Given the description of an element on the screen output the (x, y) to click on. 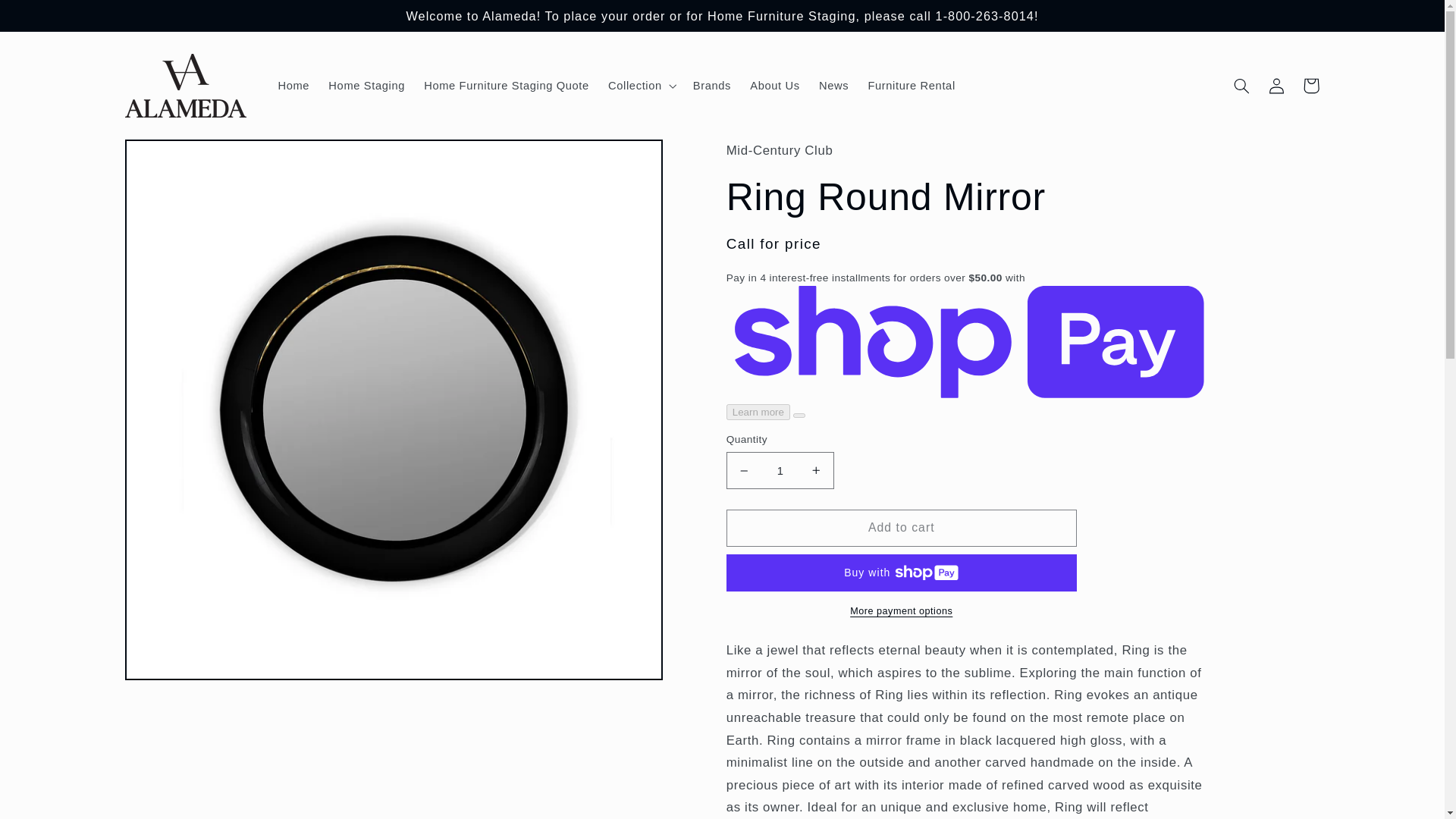
Home Staging (366, 85)
Home (292, 85)
Brands (711, 85)
Skip to content (48, 18)
News (833, 85)
Furniture Rental (912, 85)
Home Furniture Staging Quote (506, 85)
About Us (775, 85)
1 (780, 470)
